Given the description of an element on the screen output the (x, y) to click on. 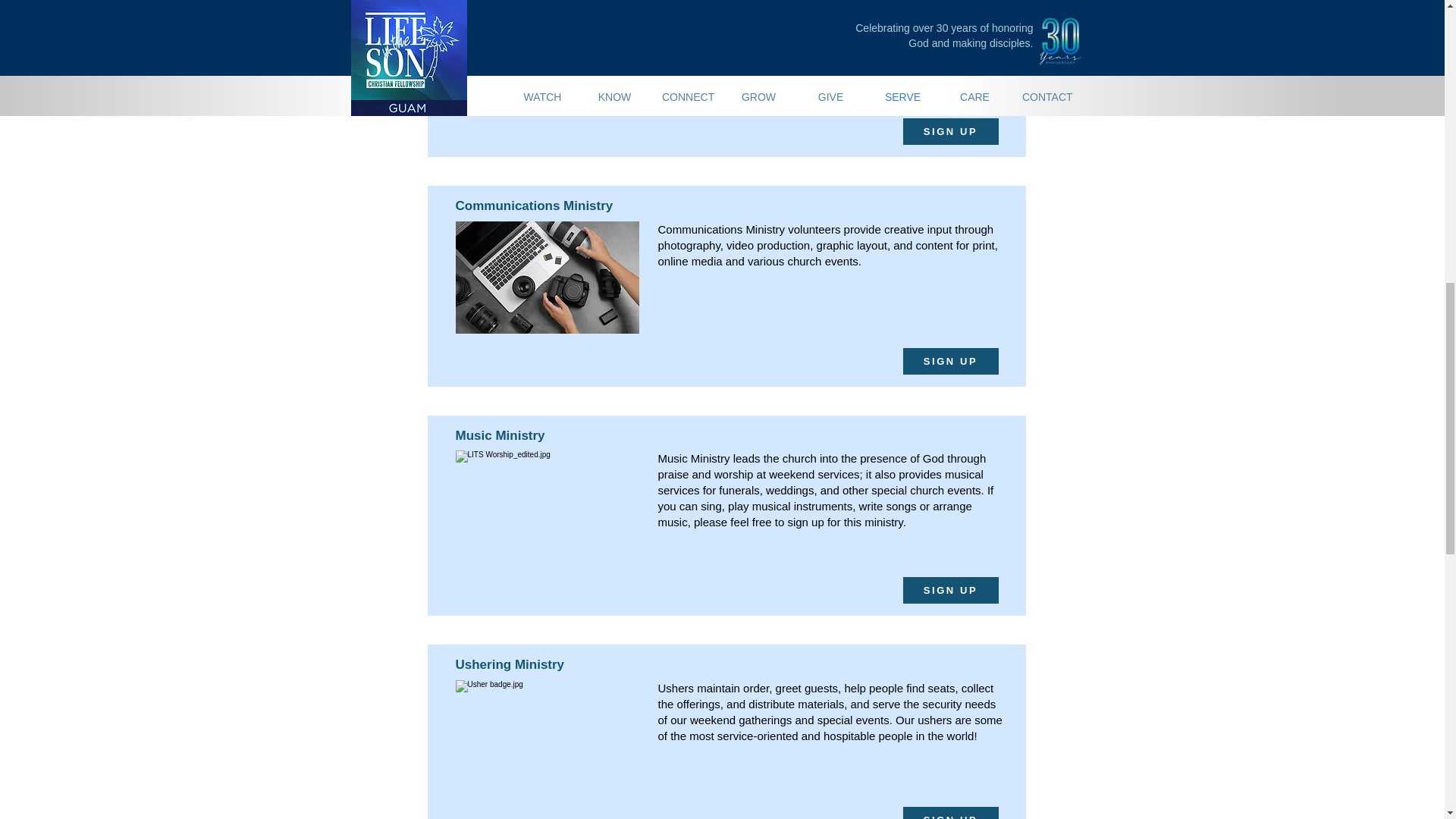
Life Groups Leaders-17.png (546, 506)
Life Groups Leaders-17.png (546, 52)
Life Groups Leaders-17.png (546, 736)
SIGN UP (949, 812)
SIGN UP (949, 361)
SIGN UP (949, 590)
Life Groups Leaders-17.png (546, 277)
SIGN UP (949, 130)
